Given the description of an element on the screen output the (x, y) to click on. 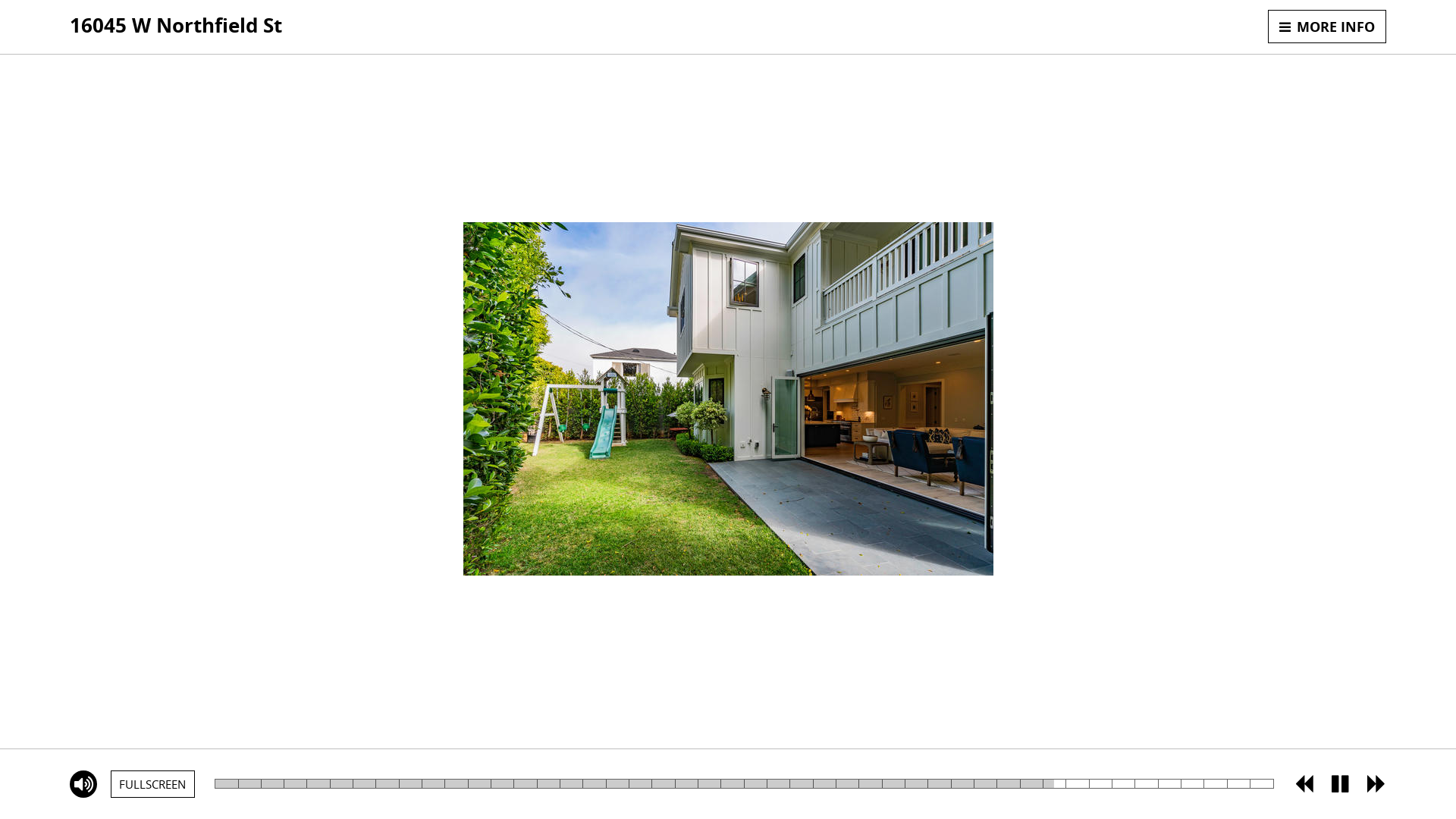
MORE INFO Element type: text (1326, 26)
